Given the description of an element on the screen output the (x, y) to click on. 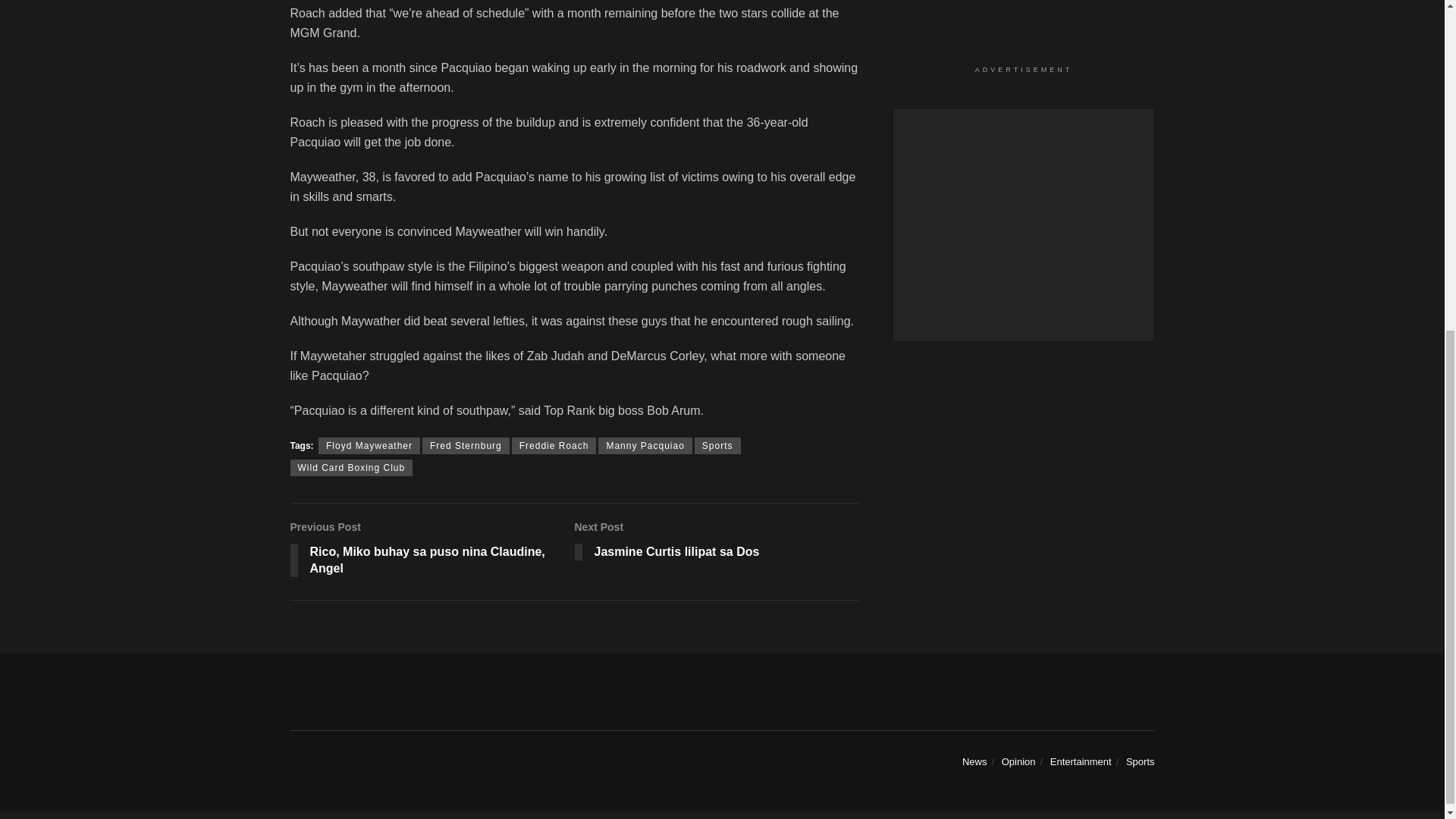
Fred Sternburg (465, 445)
Sports (717, 445)
Manny Pacquiao (717, 543)
Freddie Roach (644, 445)
Wild Card Boxing Club (554, 445)
Floyd Mayweather (350, 467)
